Given the description of an element on the screen output the (x, y) to click on. 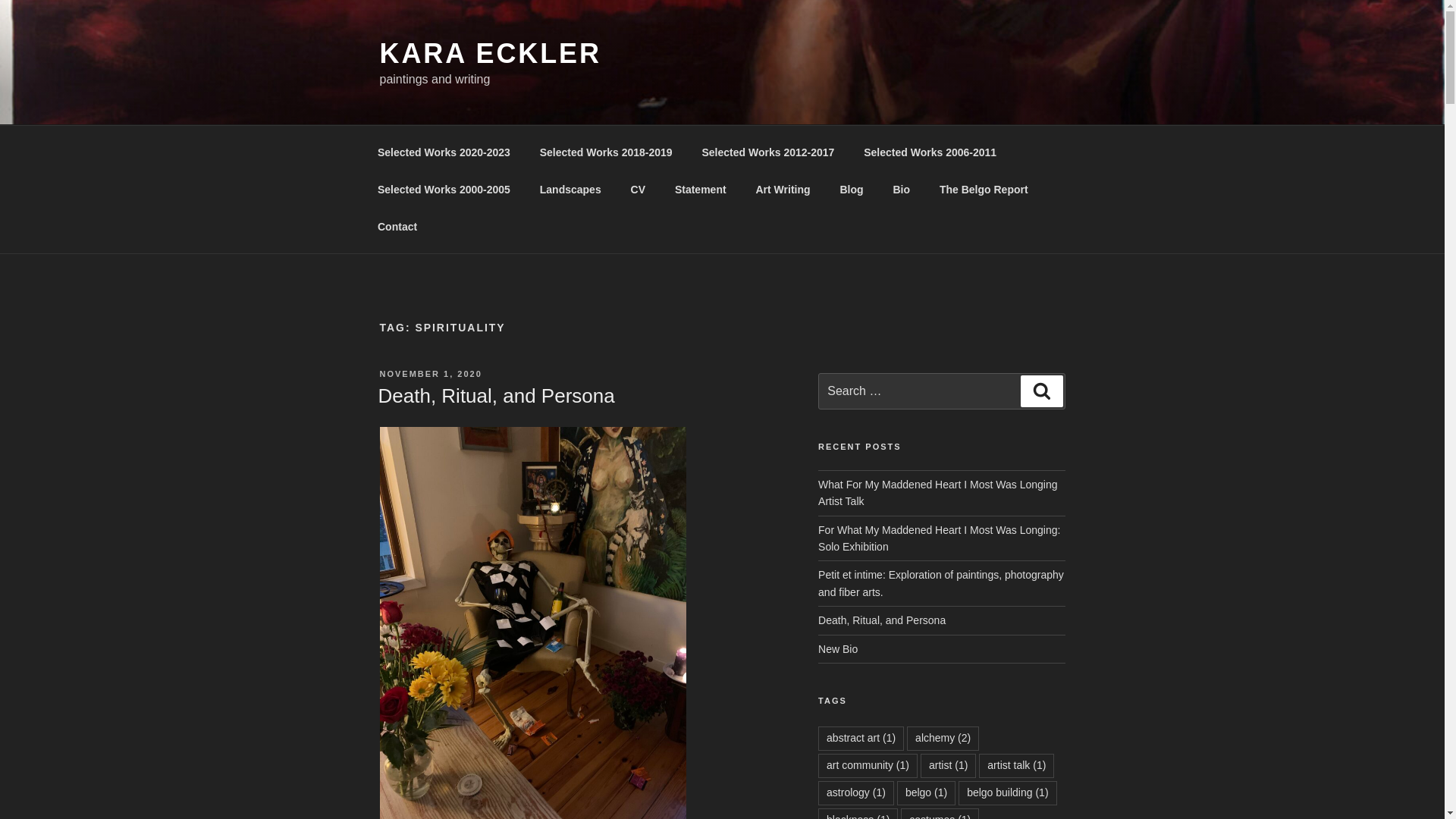
Contact (396, 226)
New Bio (837, 648)
Death, Ritual, and Persona (881, 620)
KARA ECKLER (488, 52)
Search (1041, 391)
Selected Works 2020-2023 (443, 151)
What For My Maddened Heart I Most Was Longing Artist Talk (937, 492)
Selected Works 2000-2005 (443, 189)
Selected Works 2006-2011 (930, 151)
Statement (700, 189)
NOVEMBER 1, 2020 (429, 373)
Art Writing (783, 189)
Landscapes (569, 189)
The Belgo Report (983, 189)
Selected Works 2018-2019 (605, 151)
